Given the description of an element on the screen output the (x, y) to click on. 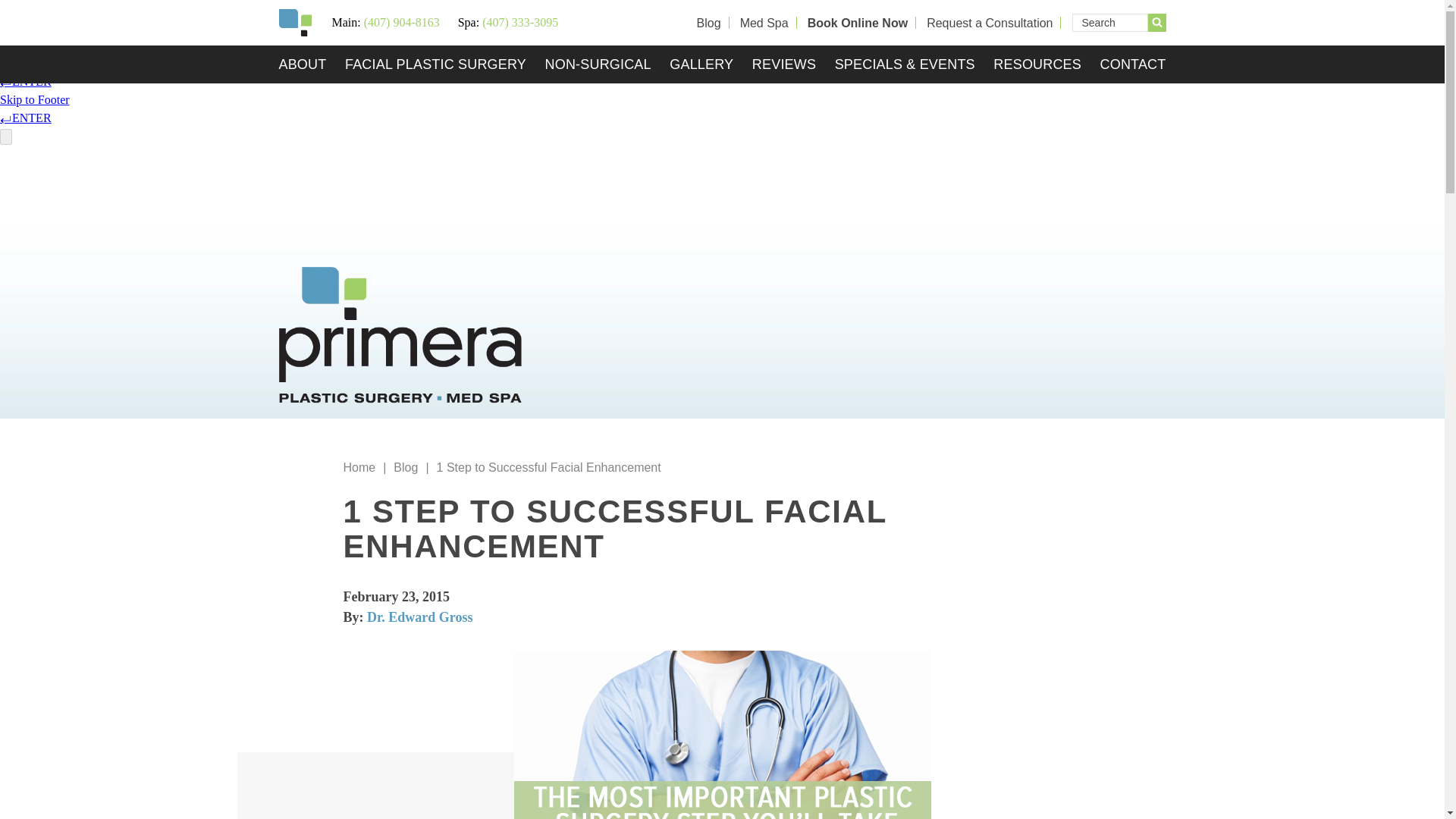
FACIAL PLASTIC SURGERY (435, 64)
Request a Consultation (989, 22)
Book Online Now (857, 22)
ABOUT (306, 64)
Blog (708, 22)
View all posts by Dr. Edward Gross (419, 616)
Med Spa (764, 22)
